Given the description of an element on the screen output the (x, y) to click on. 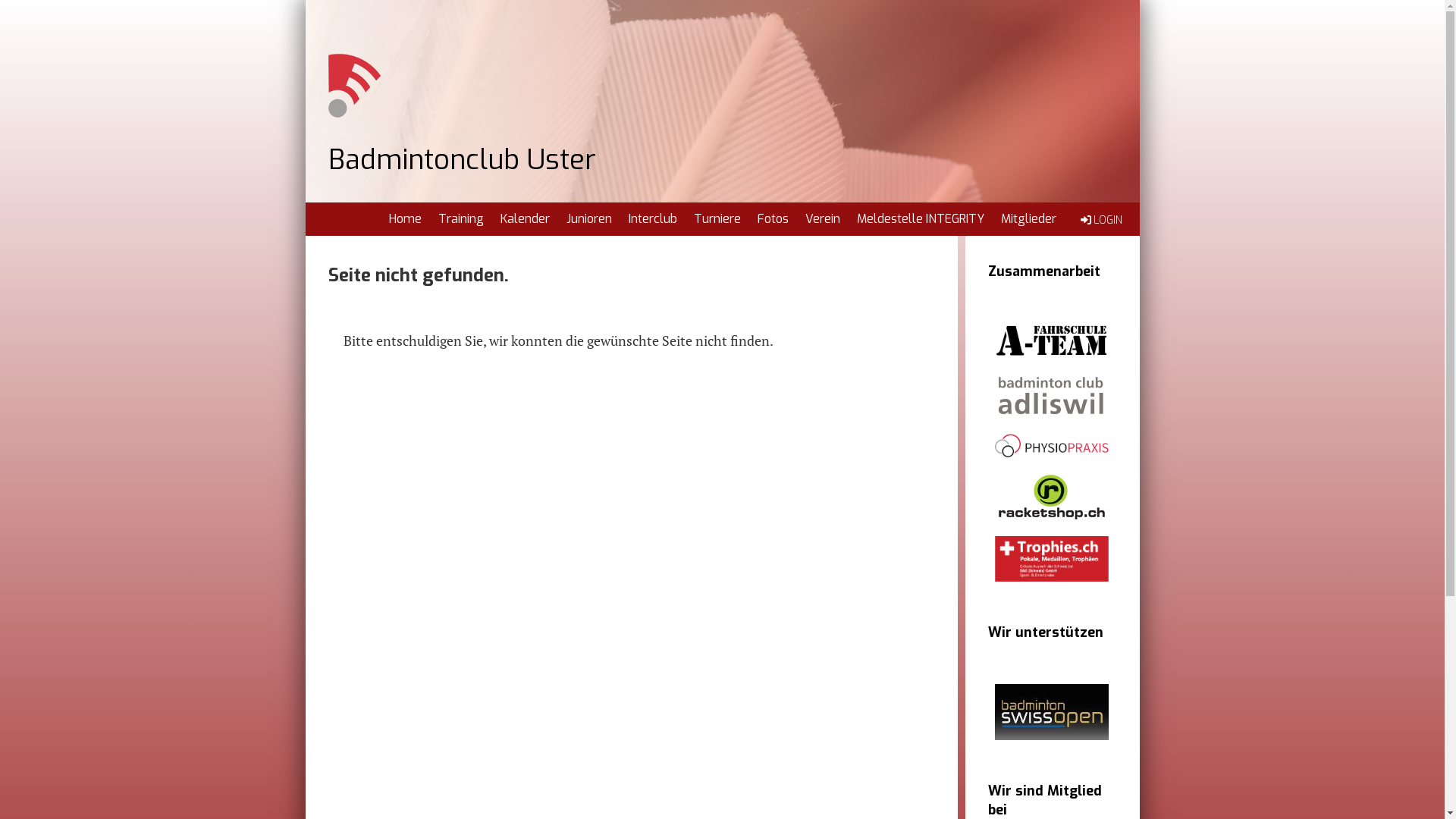
Mitglieder Element type: text (1027, 218)
LOGIN Element type: text (1099, 220)
Meldestelle INTEGRITY Element type: text (919, 218)
Junioren Element type: text (589, 218)
Home Element type: text (404, 218)
Fotos Element type: text (773, 218)
Turniere Element type: text (717, 218)
Kalender Element type: text (524, 218)
Training Element type: text (460, 218)
Verein Element type: text (821, 218)
Interclub Element type: text (652, 218)
